Given the description of an element on the screen output the (x, y) to click on. 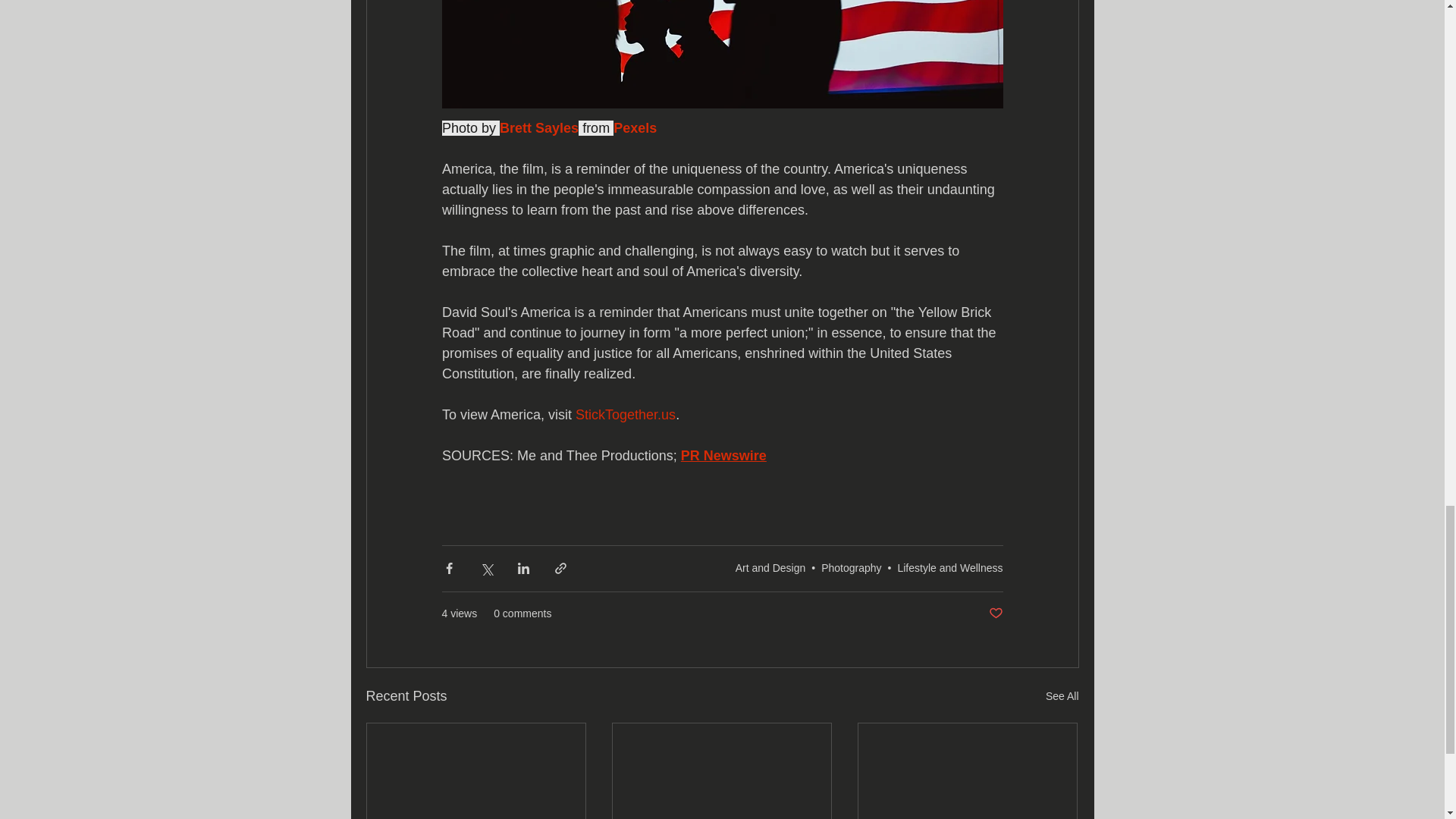
Brett Sayles (538, 127)
Post not marked as liked (995, 613)
Lifestyle and Wellness (949, 567)
Art and Design (770, 567)
PR Newswire (722, 455)
Pexels (634, 127)
Photography (850, 567)
See All (1061, 696)
StickTogether.us (625, 414)
